Given the description of an element on the screen output the (x, y) to click on. 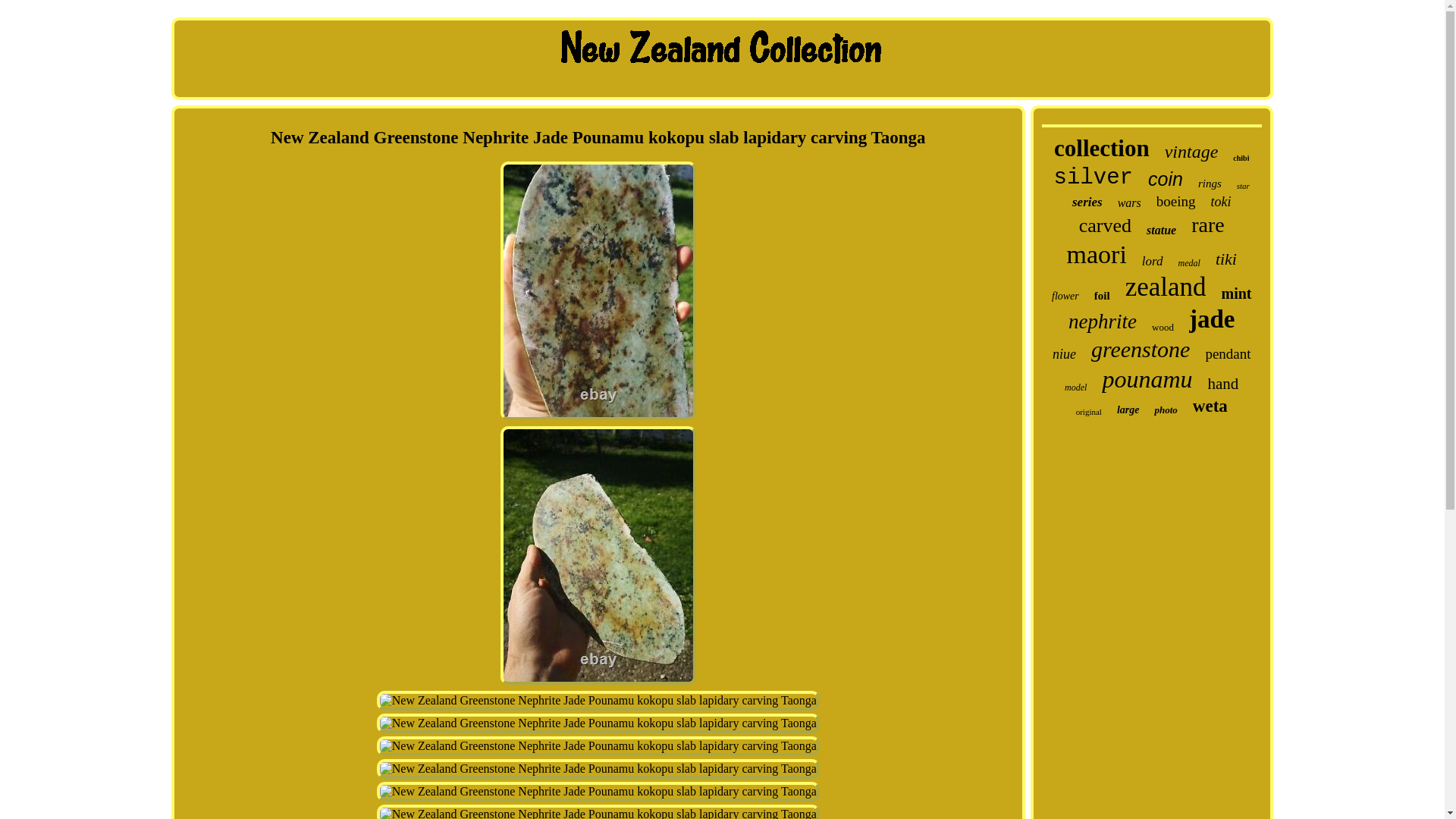
coin (1165, 179)
collection (1102, 148)
maori (1096, 254)
wood (1162, 327)
carved (1104, 225)
rings (1209, 183)
silver (1093, 177)
statue (1161, 230)
niue (1063, 354)
zealand (1166, 286)
